Given the description of an element on the screen output the (x, y) to click on. 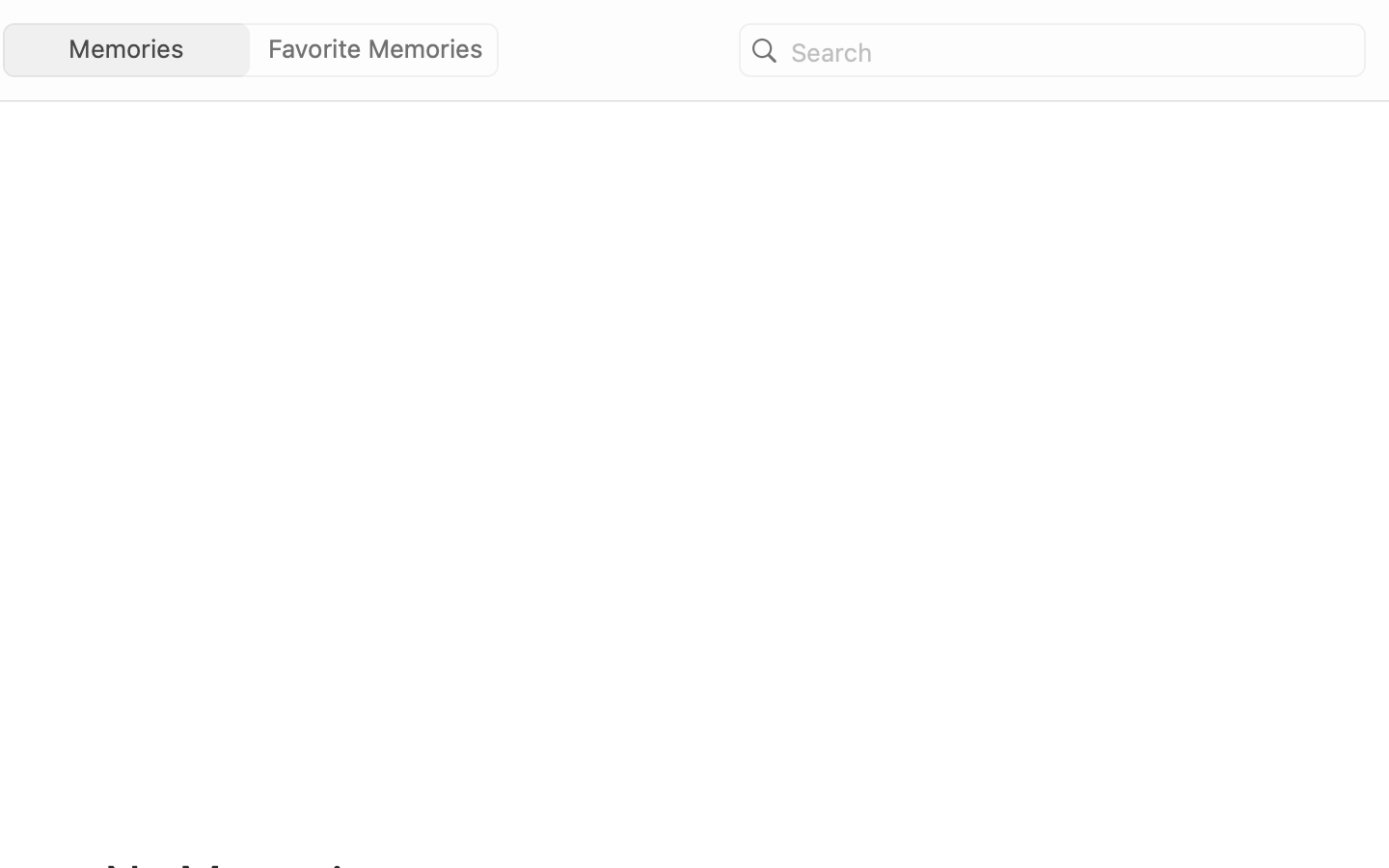
0 Element type: AXRadioButton (379, 49)
